Given the description of an element on the screen output the (x, y) to click on. 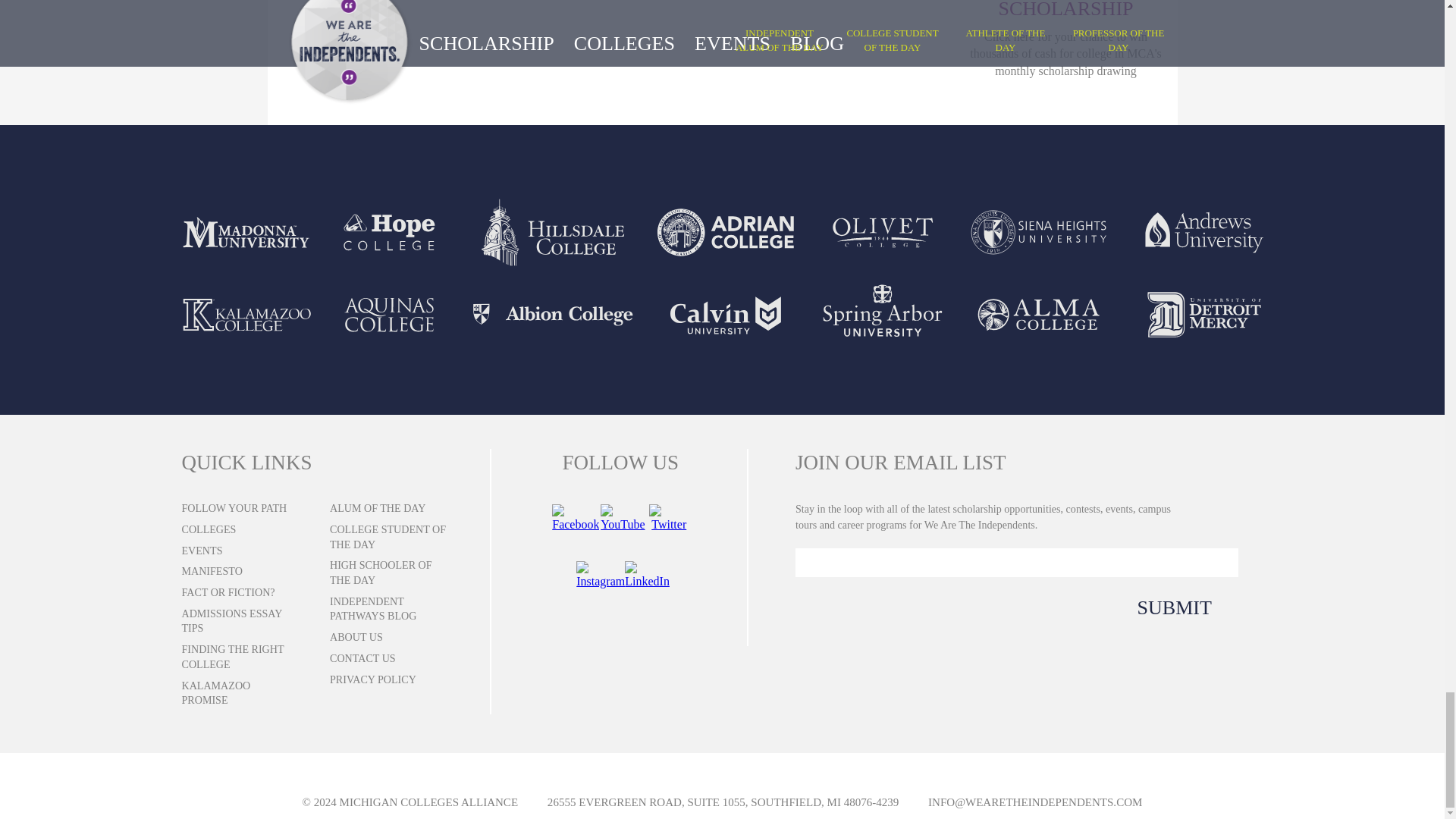
Submit (1160, 607)
